Given the description of an element on the screen output the (x, y) to click on. 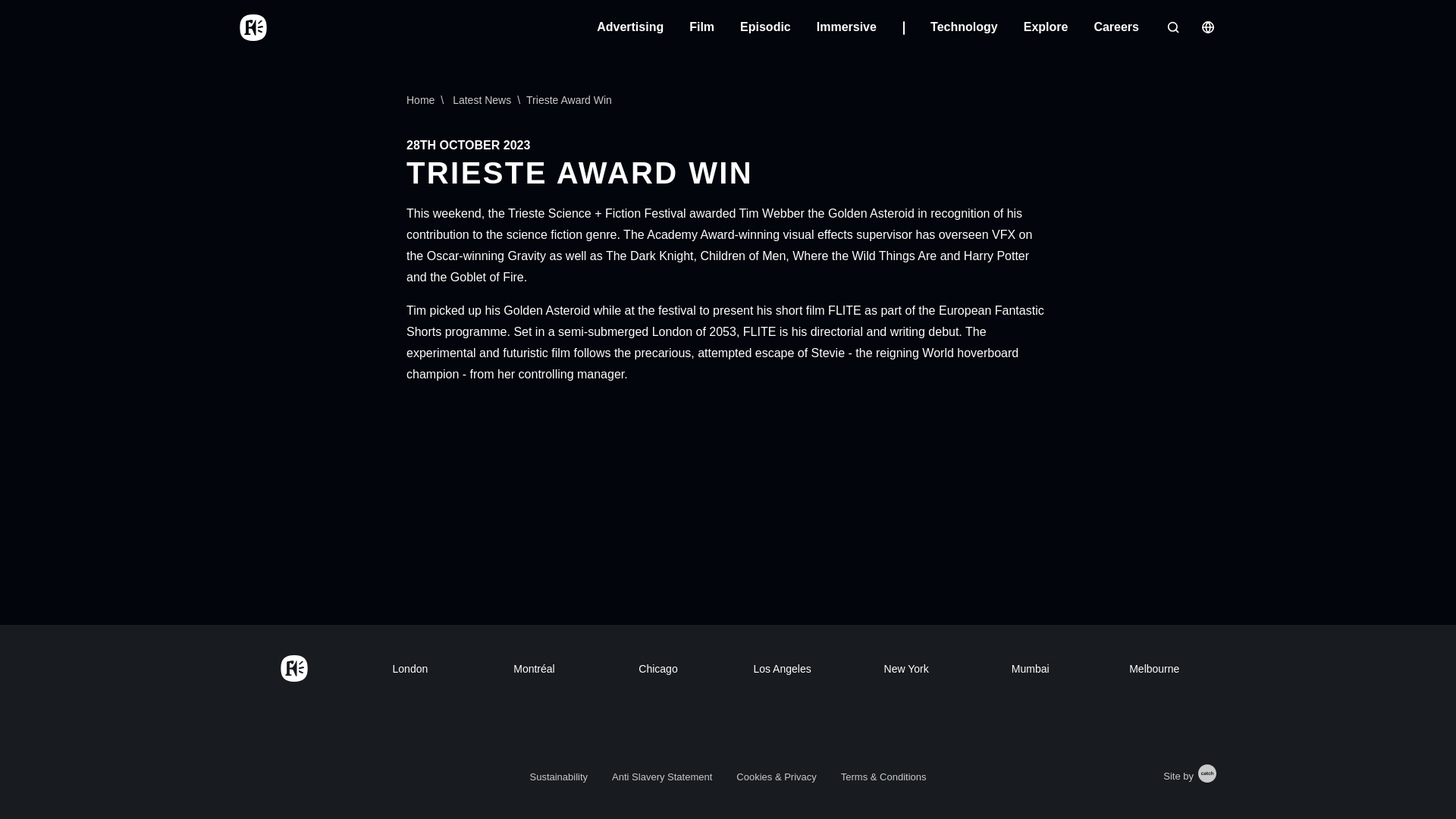
Advertising (629, 26)
Film (701, 26)
Home (253, 27)
Episodic (764, 26)
Search (1172, 27)
Immersive (860, 26)
Technology (963, 26)
Languages (1207, 27)
